Given the description of an element on the screen output the (x, y) to click on. 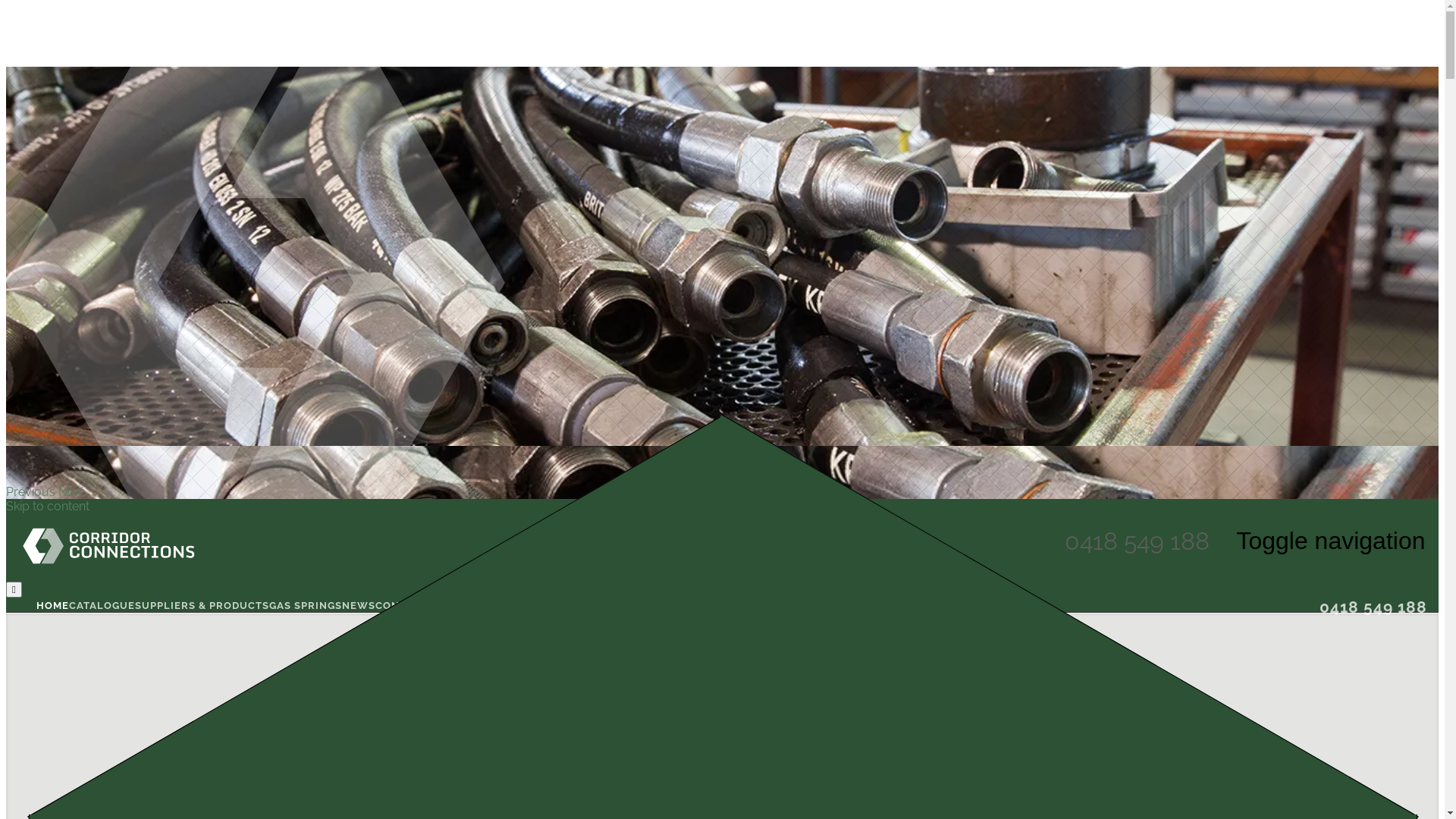
GAS SPRINGS Element type: text (305, 605)
SUPPLIERS & PRODUCTS Element type: text (201, 605)
Toggle navigation Element type: text (1330, 540)
CATALOGUE Element type: text (101, 605)
Previous Element type: text (32, 491)
0418 549 188 Element type: text (1373, 608)
CONTACT US Element type: text (410, 605)
Next Element type: text (71, 491)
Skip to content Element type: text (47, 505)
NEWS Element type: text (358, 605)
HOME Element type: text (52, 605)
